Given the description of an element on the screen output the (x, y) to click on. 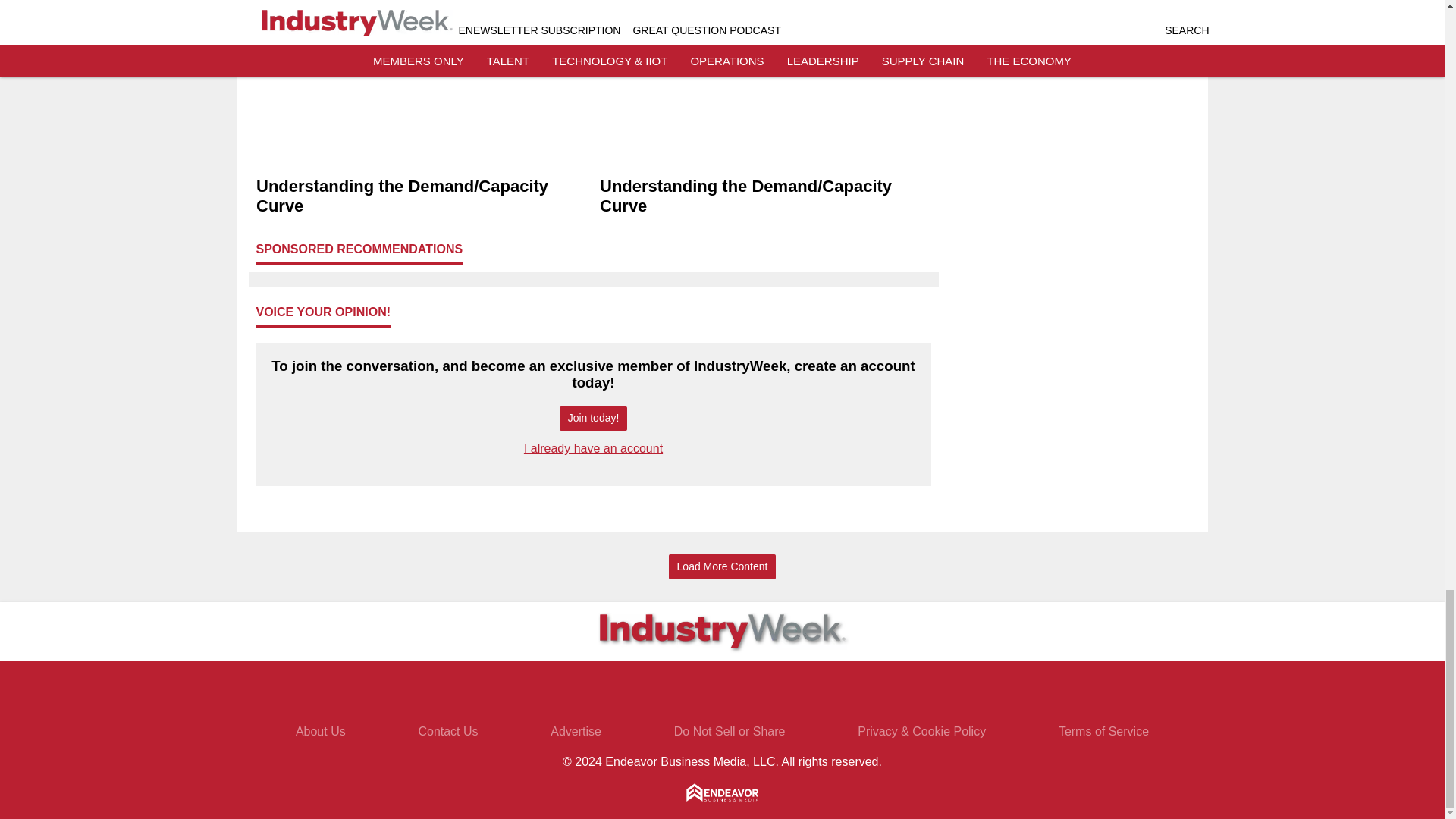
Join today! (593, 418)
I already have an account (593, 448)
